Given the description of an element on the screen output the (x, y) to click on. 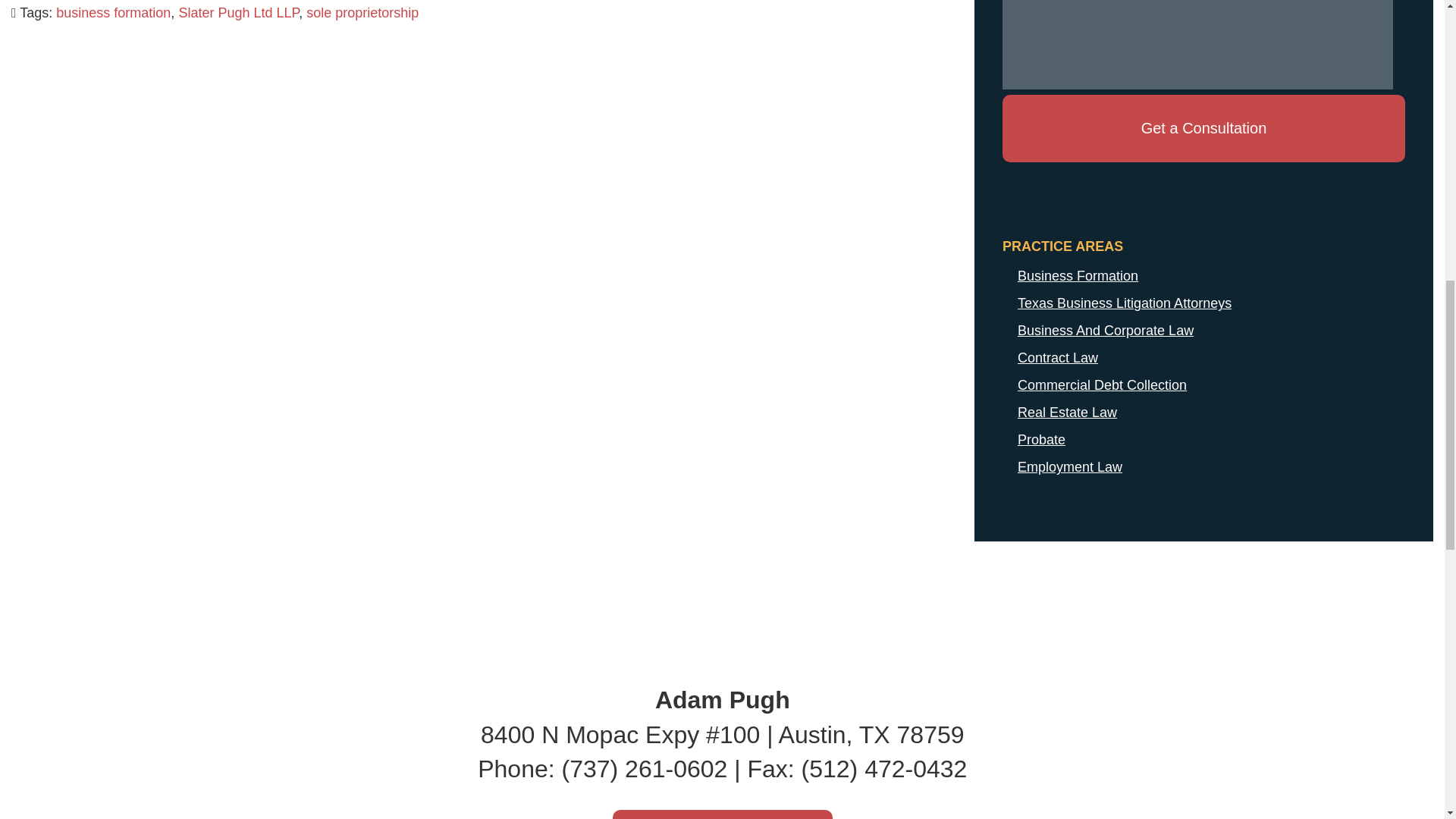
Commercial Debt Collection (1204, 384)
Probate (1204, 439)
Austin Law Office Map (722, 814)
sole proprietorship (362, 12)
Contract Law (1204, 357)
Slater Pugh Ltd LLP (237, 12)
business formation (113, 12)
Get a Consultation (1204, 128)
Employment Law (1204, 466)
Get a Consultation (1204, 128)
Real Estate Law (1204, 411)
Business Formation (1204, 275)
Business And Corporate Law (1204, 329)
Texas Business Litigation Attorneys (1204, 302)
